Given the description of an element on the screen output the (x, y) to click on. 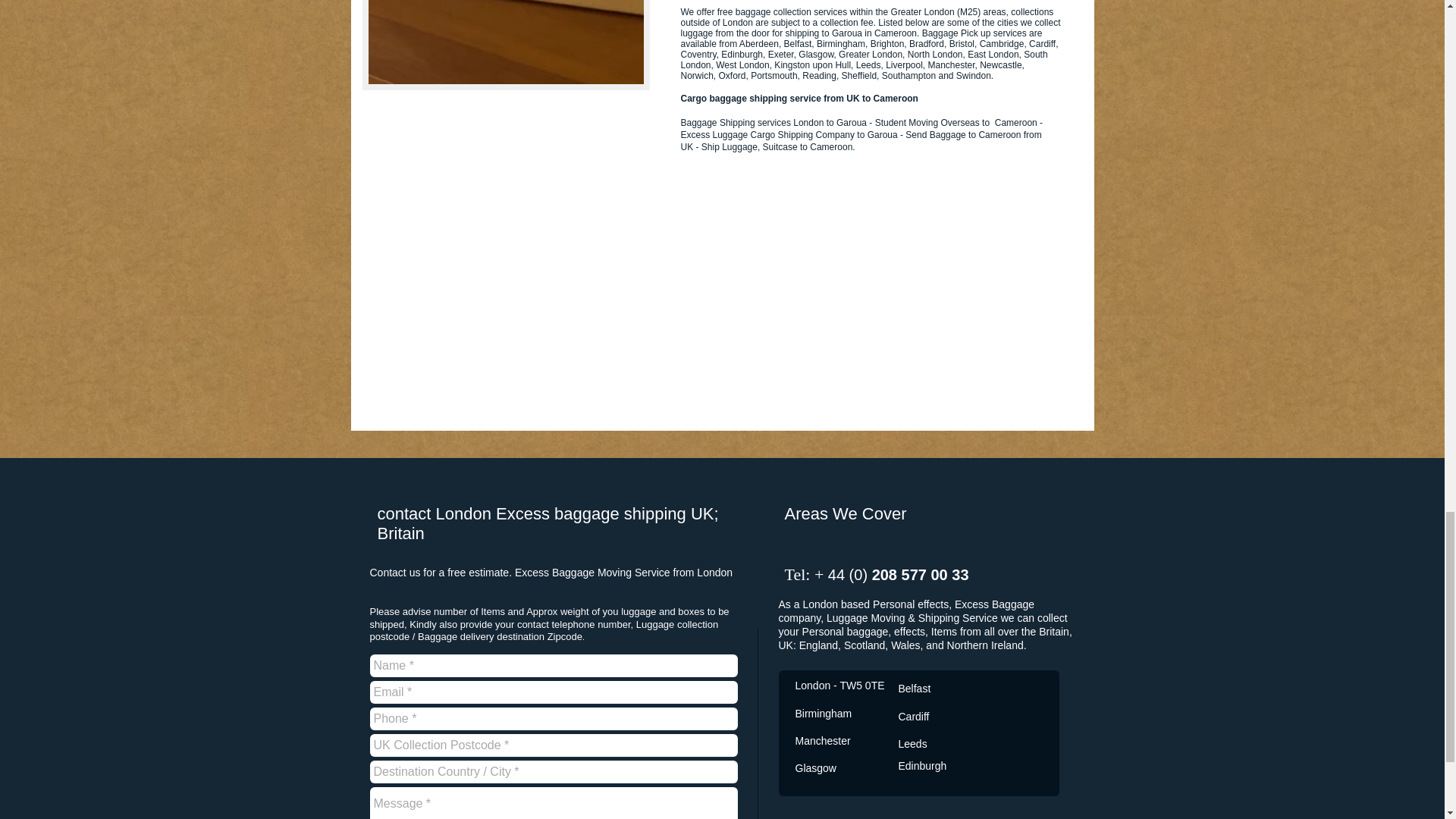
boxes (505, 45)
